Given the description of an element on the screen output the (x, y) to click on. 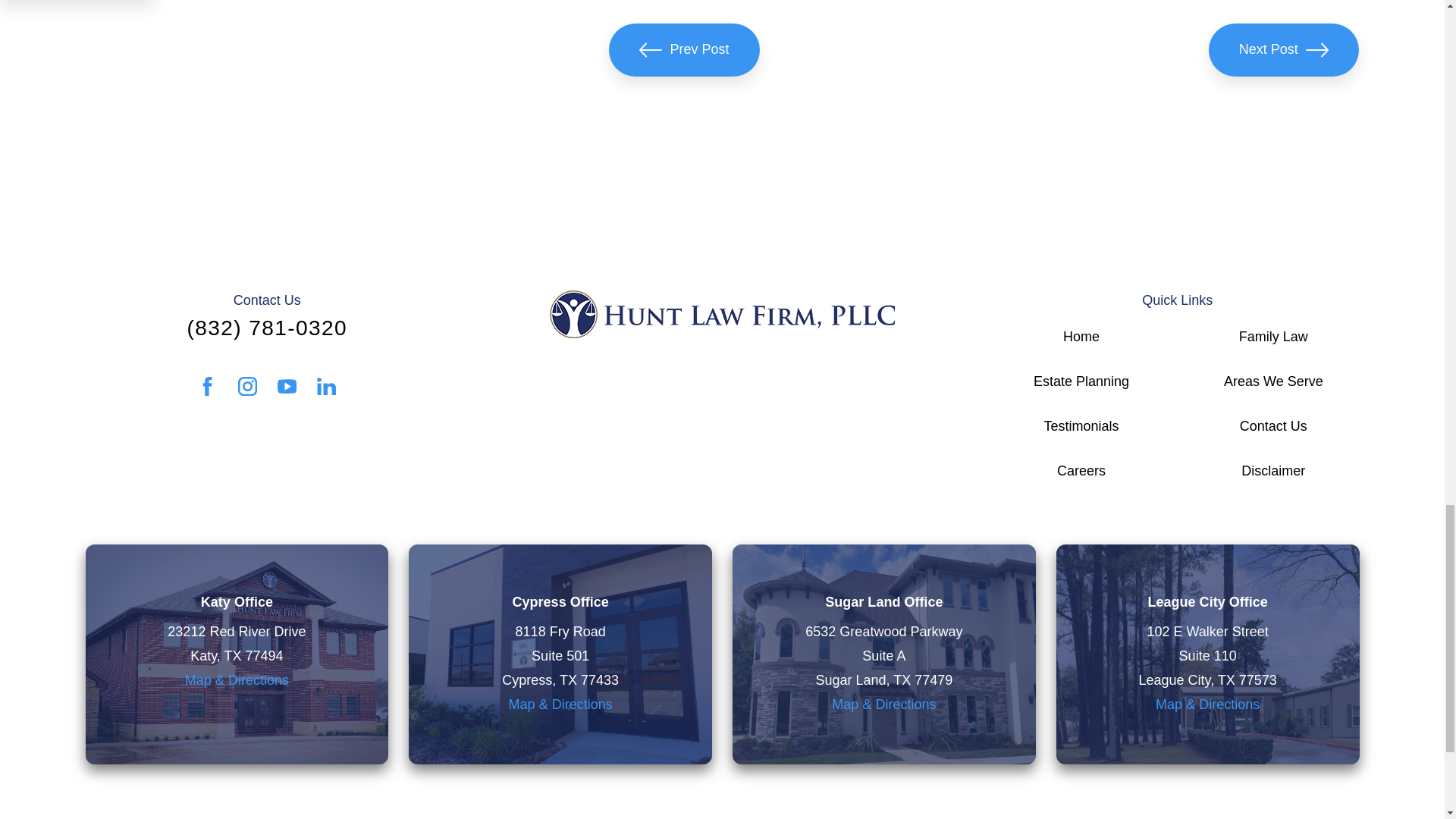
Instagram (247, 385)
Home (722, 314)
Facebook (207, 385)
YouTube (287, 385)
Hunt Law Firm, PLLC (722, 314)
LinkedIn (326, 385)
